Given the description of an element on the screen output the (x, y) to click on. 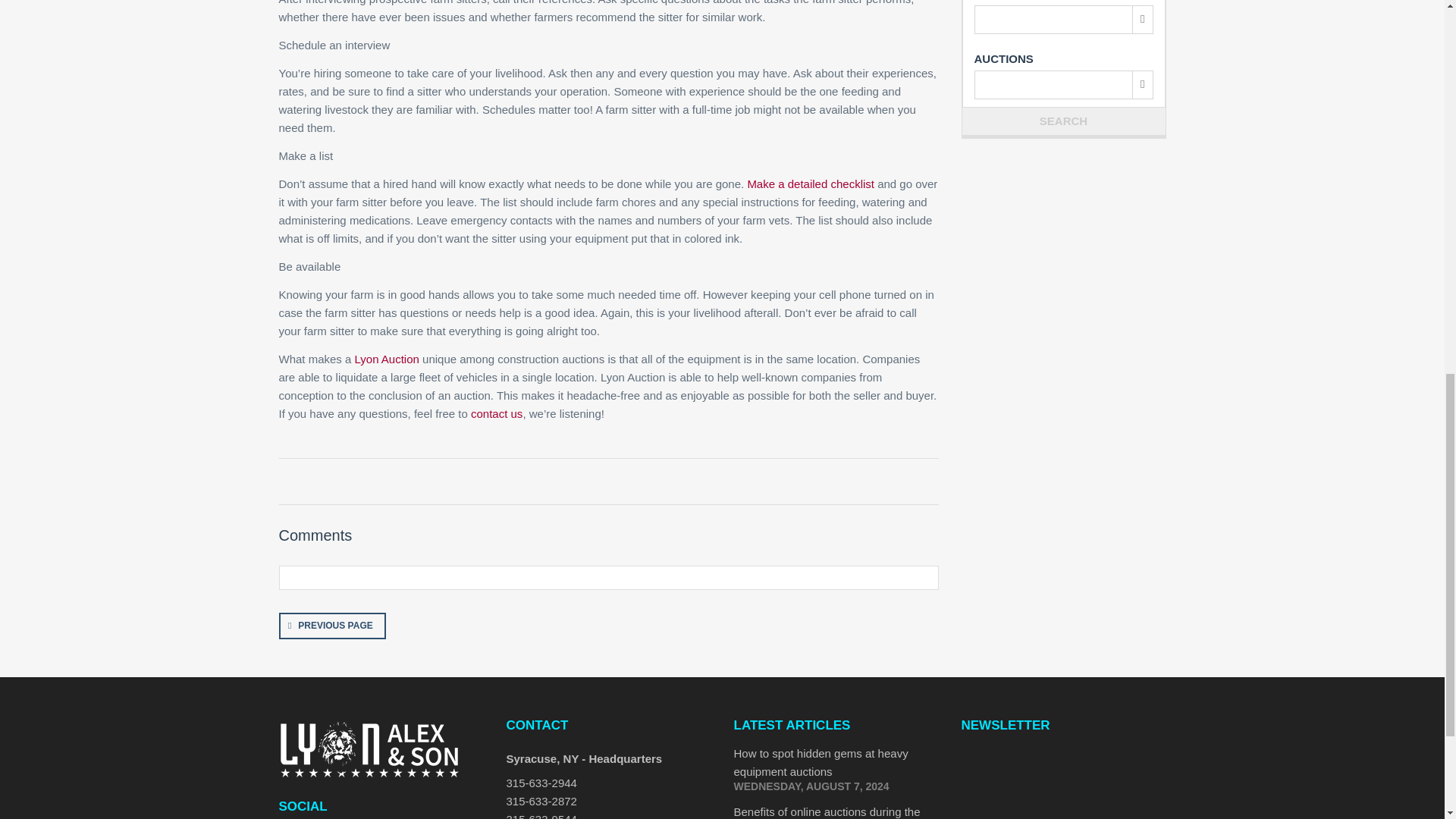
PREVIOUS PAGE (332, 625)
Lyon Auction (387, 358)
contact us (496, 413)
Make a detailed checklist (810, 183)
